Given the description of an element on the screen output the (x, y) to click on. 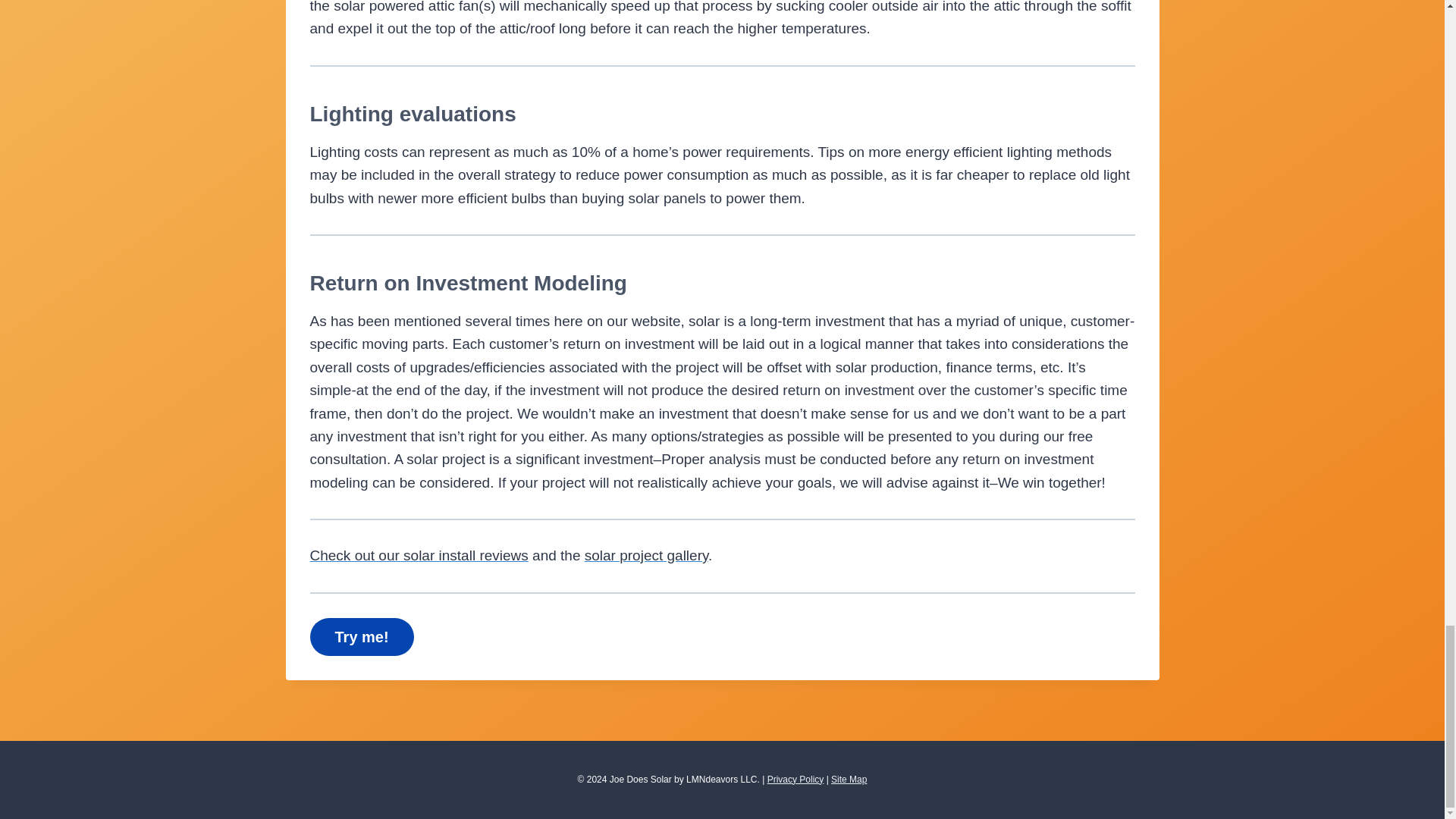
Solar Project Gallery (646, 555)
Privacy Policy (795, 778)
Check out our solar install reviews (417, 555)
solar project gallery (646, 555)
Try me! (360, 636)
Solar Energy Reviews (417, 555)
